Given the description of an element on the screen output the (x, y) to click on. 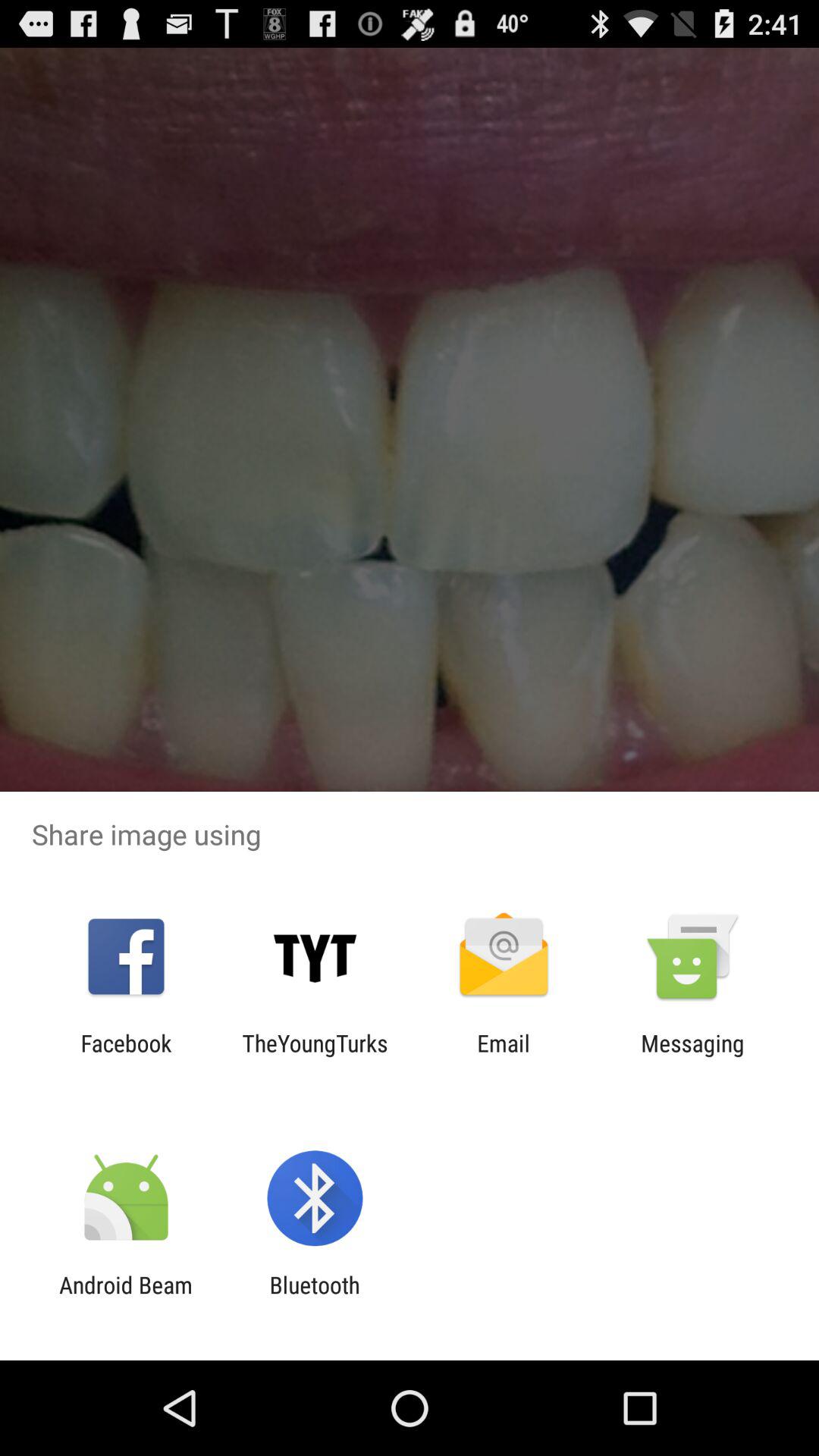
click the app at the bottom right corner (692, 1056)
